Given the description of an element on the screen output the (x, y) to click on. 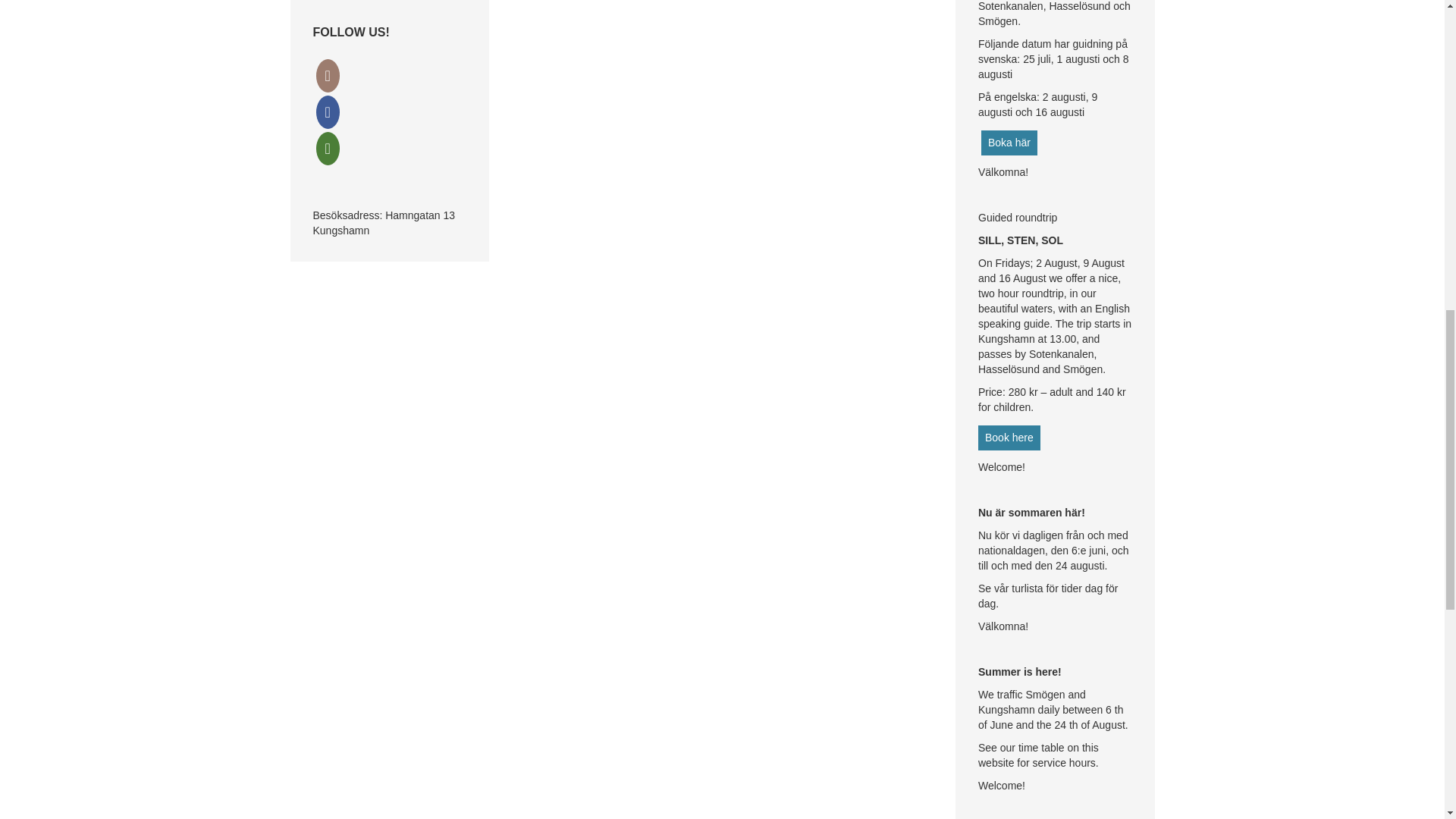
Book here (1009, 437)
